Given the description of an element on the screen output the (x, y) to click on. 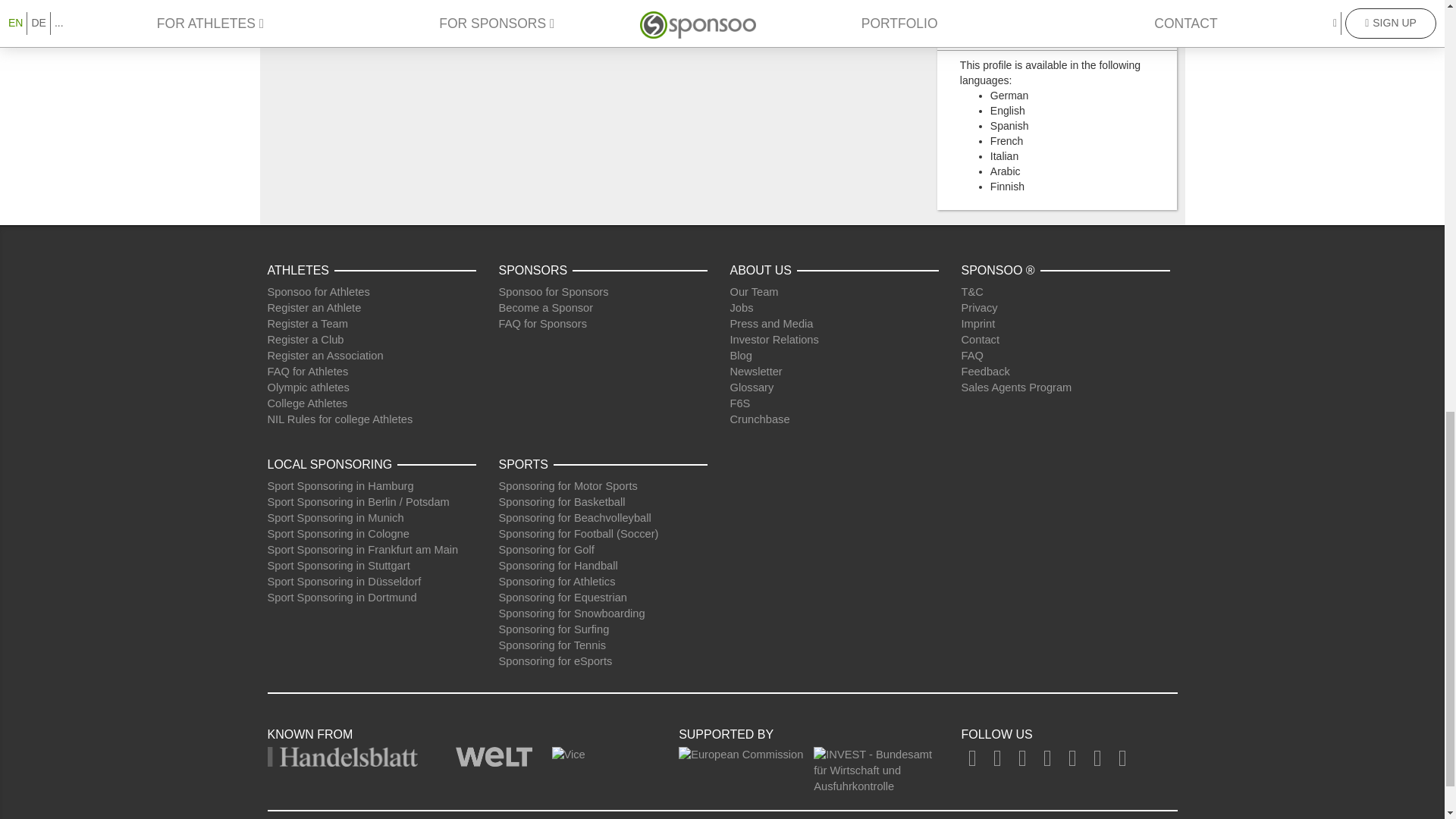
The Sponsoo Blog (740, 355)
German (1009, 95)
English (1007, 110)
French (1006, 141)
Spanish (1009, 125)
